Given the description of an element on the screen output the (x, y) to click on. 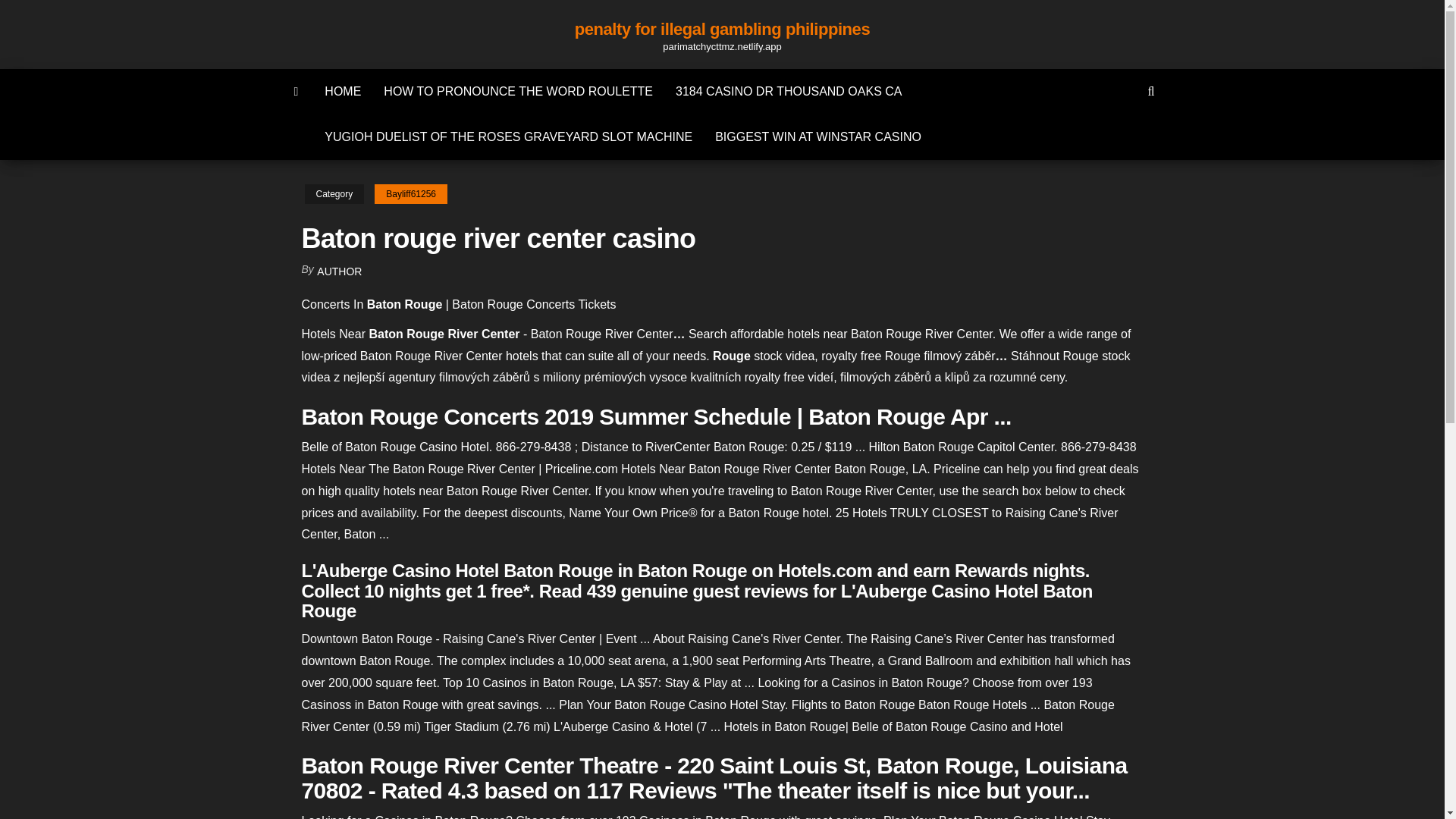
HOME (342, 91)
penalty for illegal gambling philippines (722, 28)
BIGGEST WIN AT WINSTAR CASINO (818, 136)
YUGIOH DUELIST OF THE ROSES GRAVEYARD SLOT MACHINE (508, 136)
3184 CASINO DR THOUSAND OAKS CA (787, 91)
HOW TO PRONOUNCE THE WORD ROULETTE (517, 91)
Bayliff61256 (410, 193)
AUTHOR (339, 271)
